Given the description of an element on the screen output the (x, y) to click on. 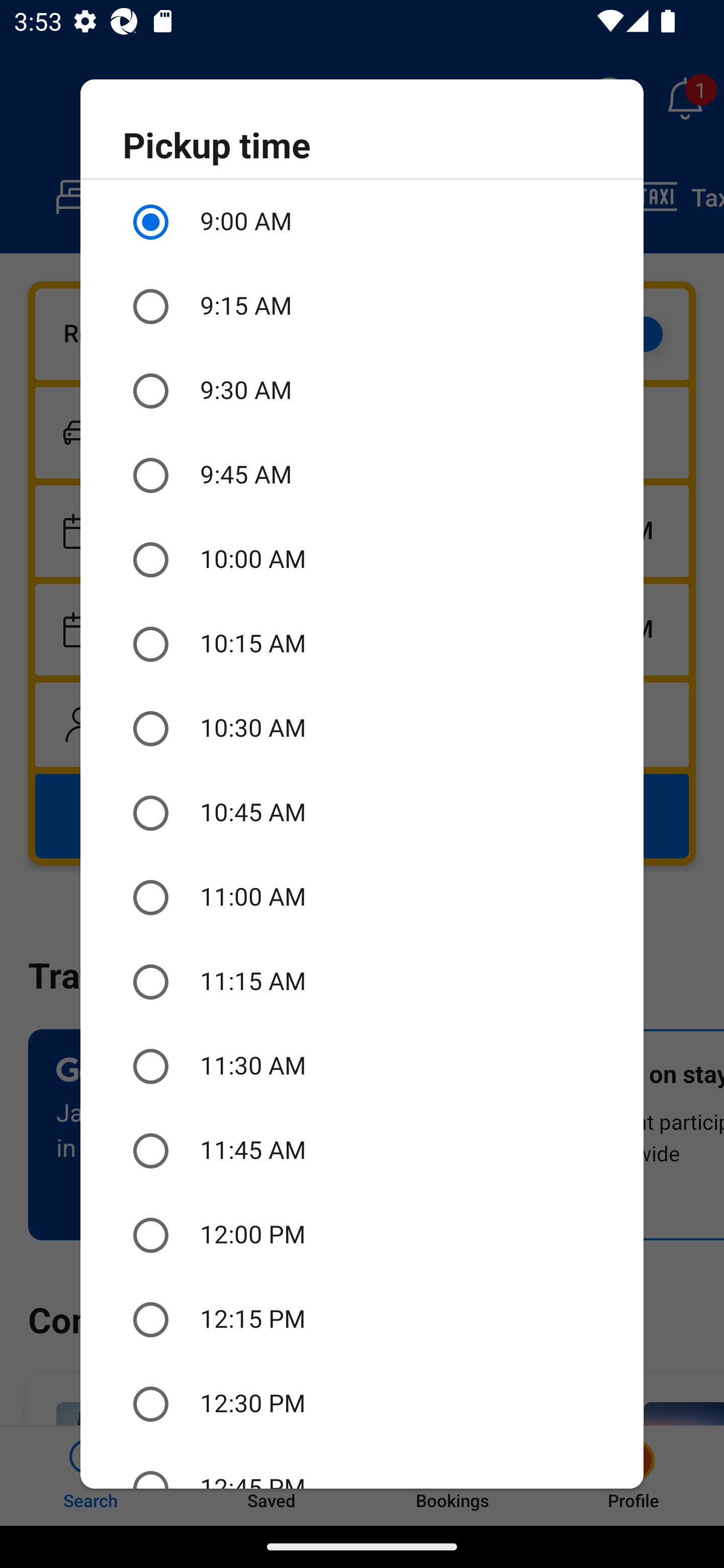
9:00 AM (361, 222)
9:15 AM (361, 306)
9:30 AM (361, 390)
9:45 AM (361, 474)
10:00 AM (361, 559)
10:15 AM (361, 644)
10:30 AM (361, 728)
10:45 AM (361, 813)
11:00 AM (361, 897)
11:15 AM (361, 981)
11:30 AM (361, 1065)
11:45 AM (361, 1150)
12:00 PM (361, 1235)
12:15 PM (361, 1319)
12:30 PM (361, 1403)
